Given the description of an element on the screen output the (x, y) to click on. 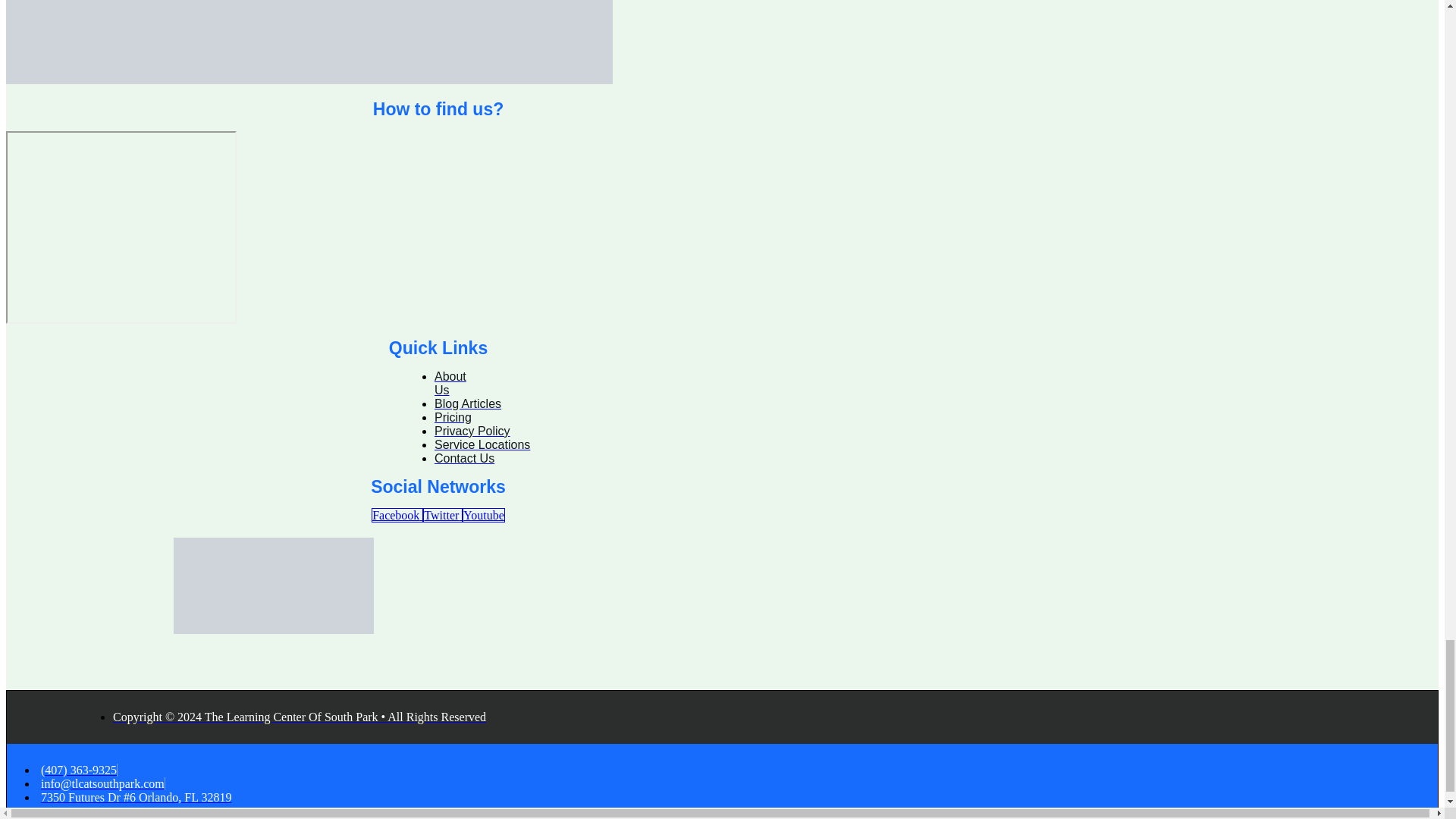
About Us (449, 383)
the learning center of south park (120, 227)
Blog Articles (466, 403)
Pricing (452, 417)
